Given the description of an element on the screen output the (x, y) to click on. 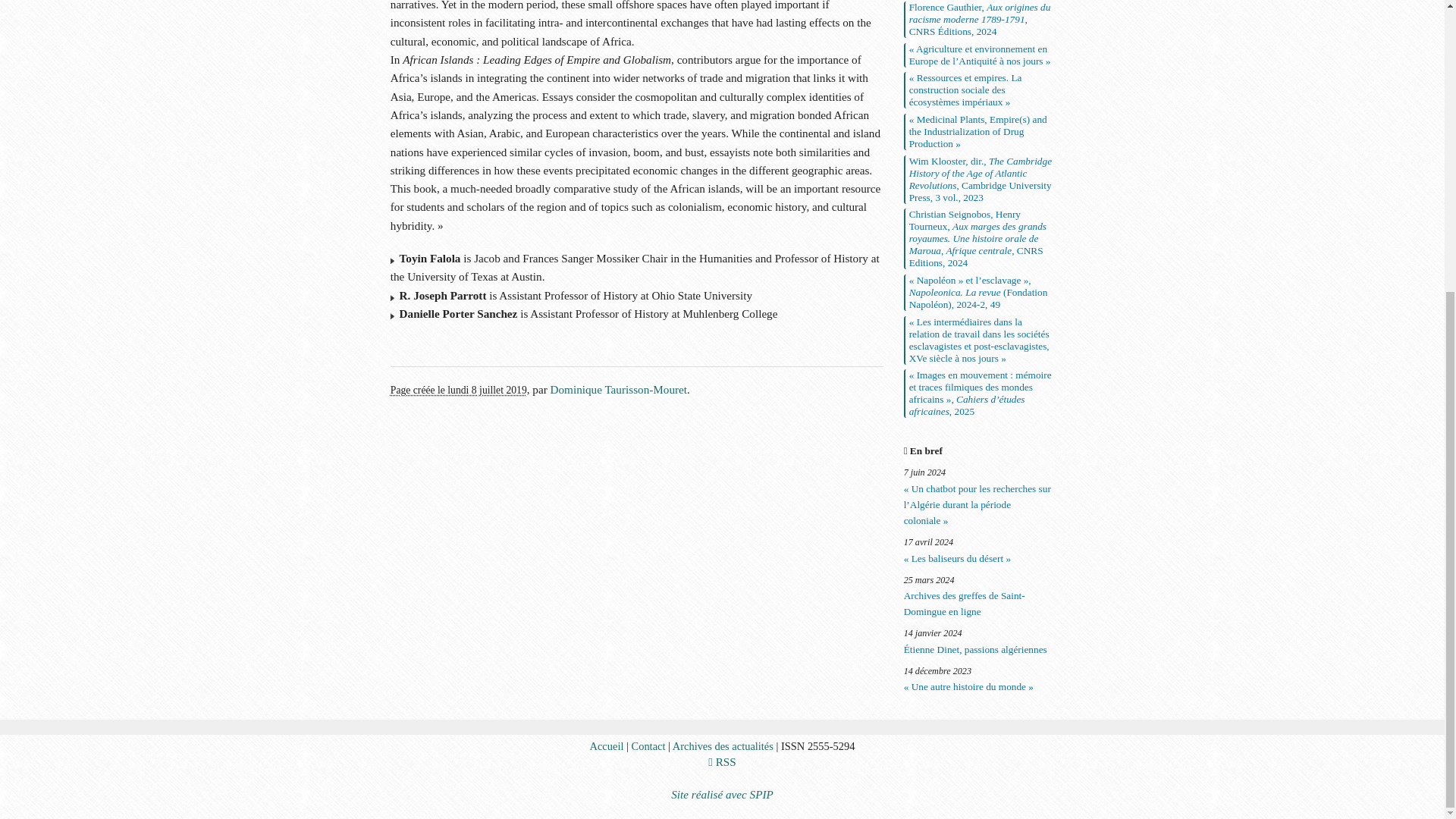
Archives des greffes de Saint-Domingue en ligne (979, 603)
2019-07-08T14:19:55Z (458, 390)
Dominique Taurisson-Mouret (618, 389)
